Given the description of an element on the screen output the (x, y) to click on. 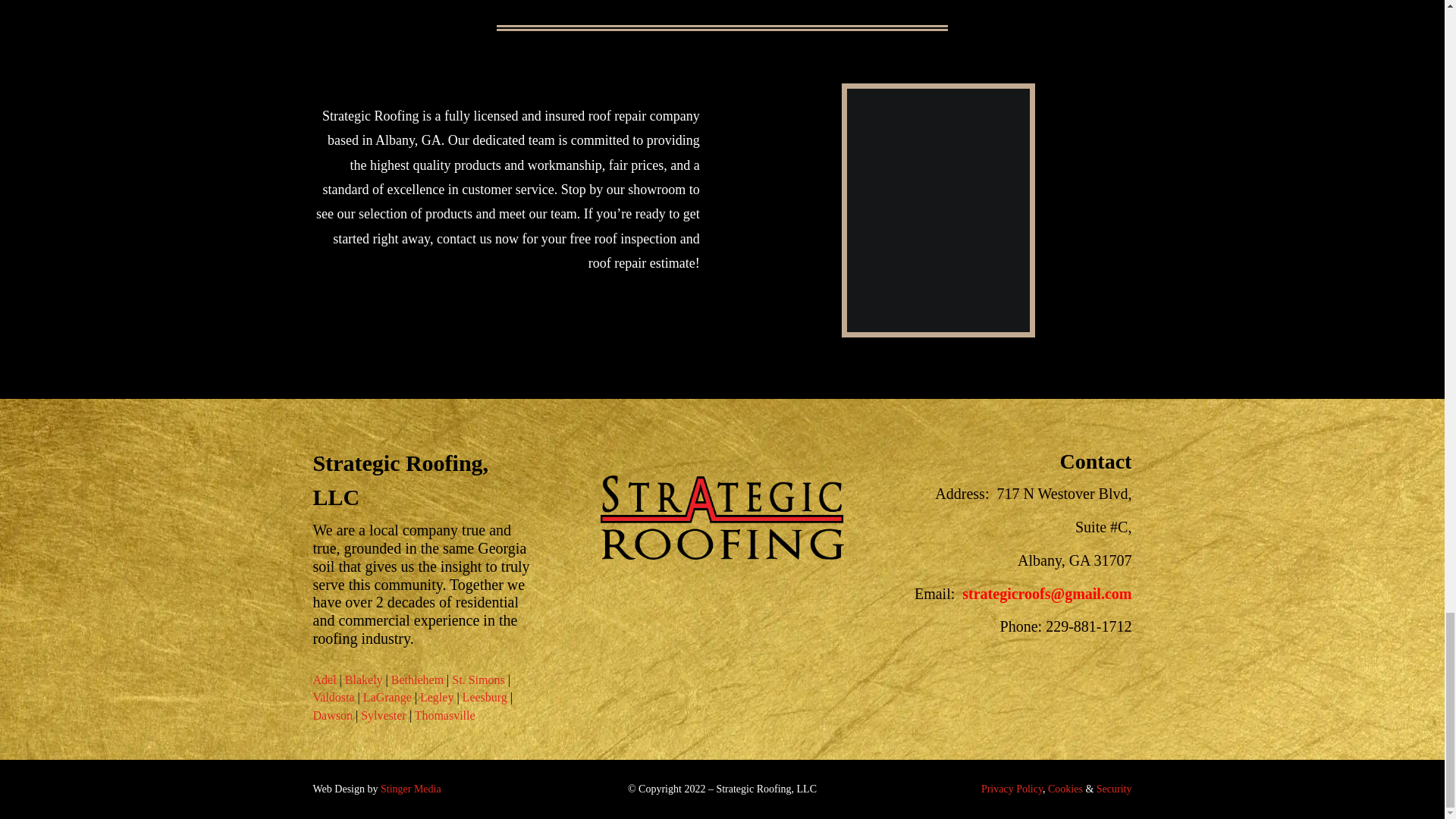
Adel (324, 679)
Cookies (1065, 788)
Dawson (332, 715)
St. Simons (477, 679)
Legley (436, 697)
Bethlehem (417, 679)
Stinger Media (410, 788)
Sylvester (382, 715)
logoreg-5503993 (721, 555)
Security (1114, 788)
